Given the description of an element on the screen output the (x, y) to click on. 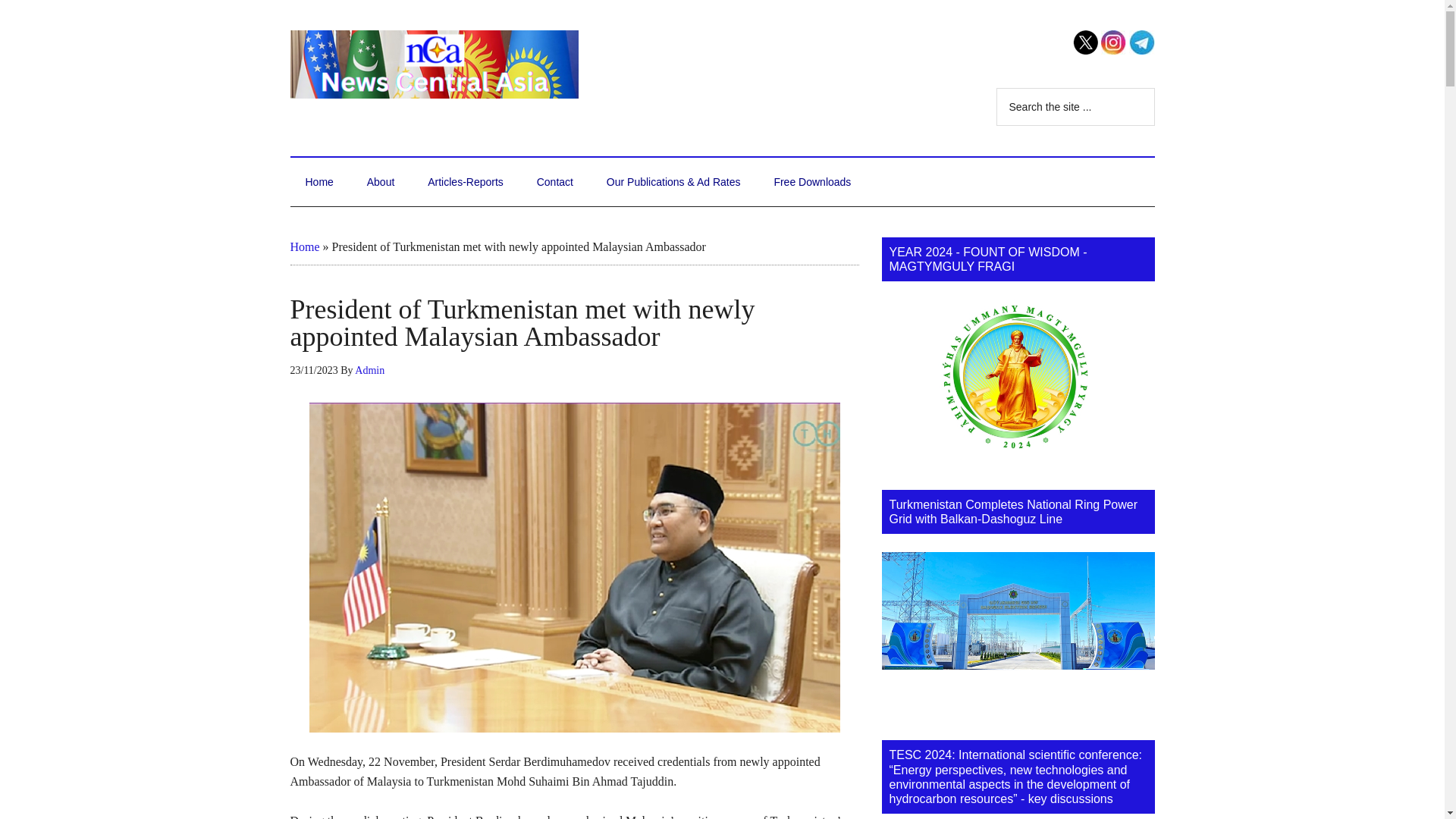
Free Downloads (812, 182)
Admin (369, 369)
Home (303, 246)
Contact (554, 182)
Articles-Reports (465, 182)
Home (318, 182)
About (381, 182)
